Given the description of an element on the screen output the (x, y) to click on. 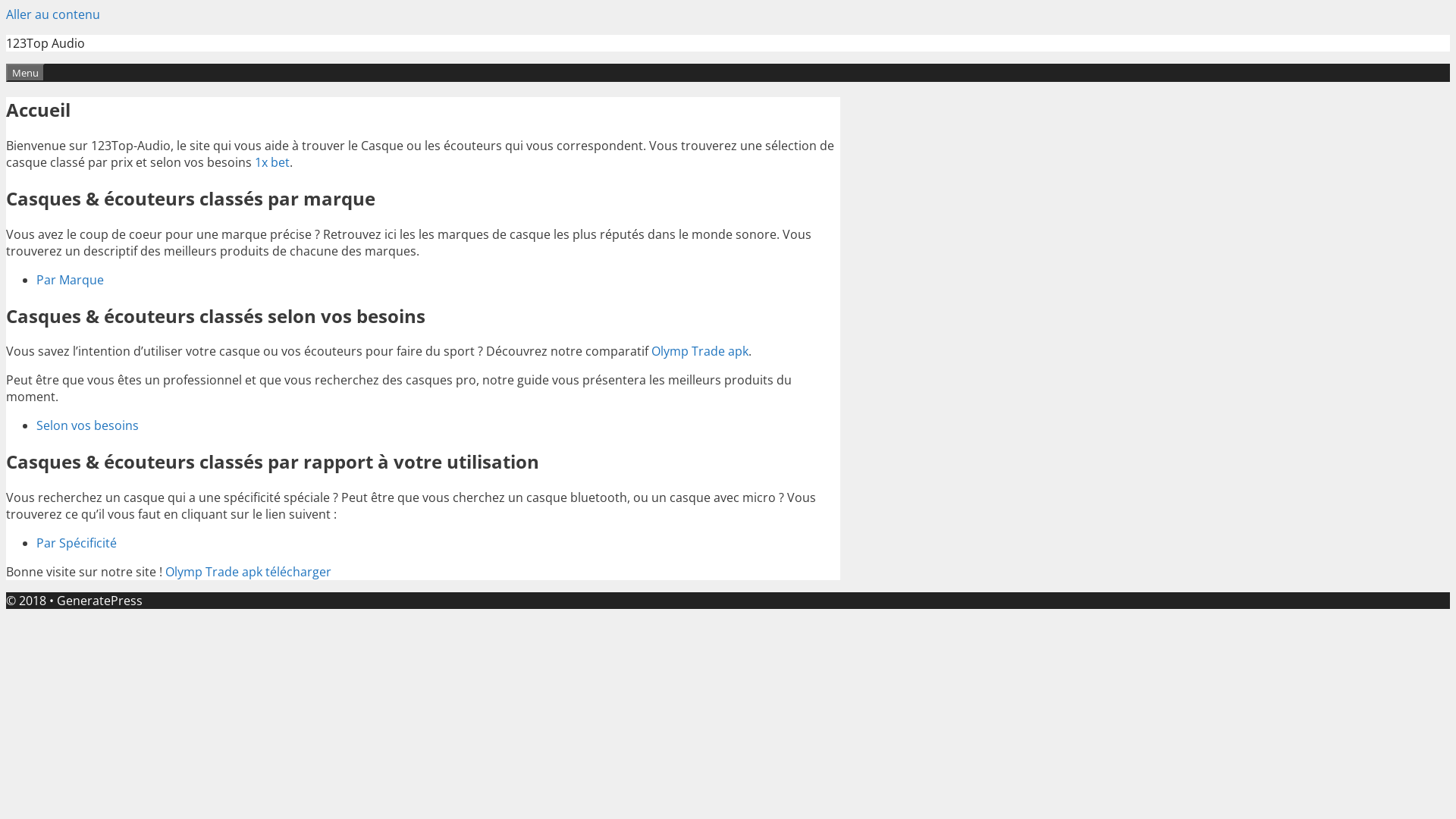
Menu Element type: text (25, 72)
GeneratePress Element type: text (99, 600)
1x bet Element type: text (271, 161)
Olymp Trade apk Element type: text (699, 350)
Selon vos besoins Element type: text (87, 425)
123Top Audio Element type: text (45, 42)
Par Marque Element type: text (69, 279)
Aller au contenu Element type: text (53, 14)
